Given the description of an element on the screen output the (x, y) to click on. 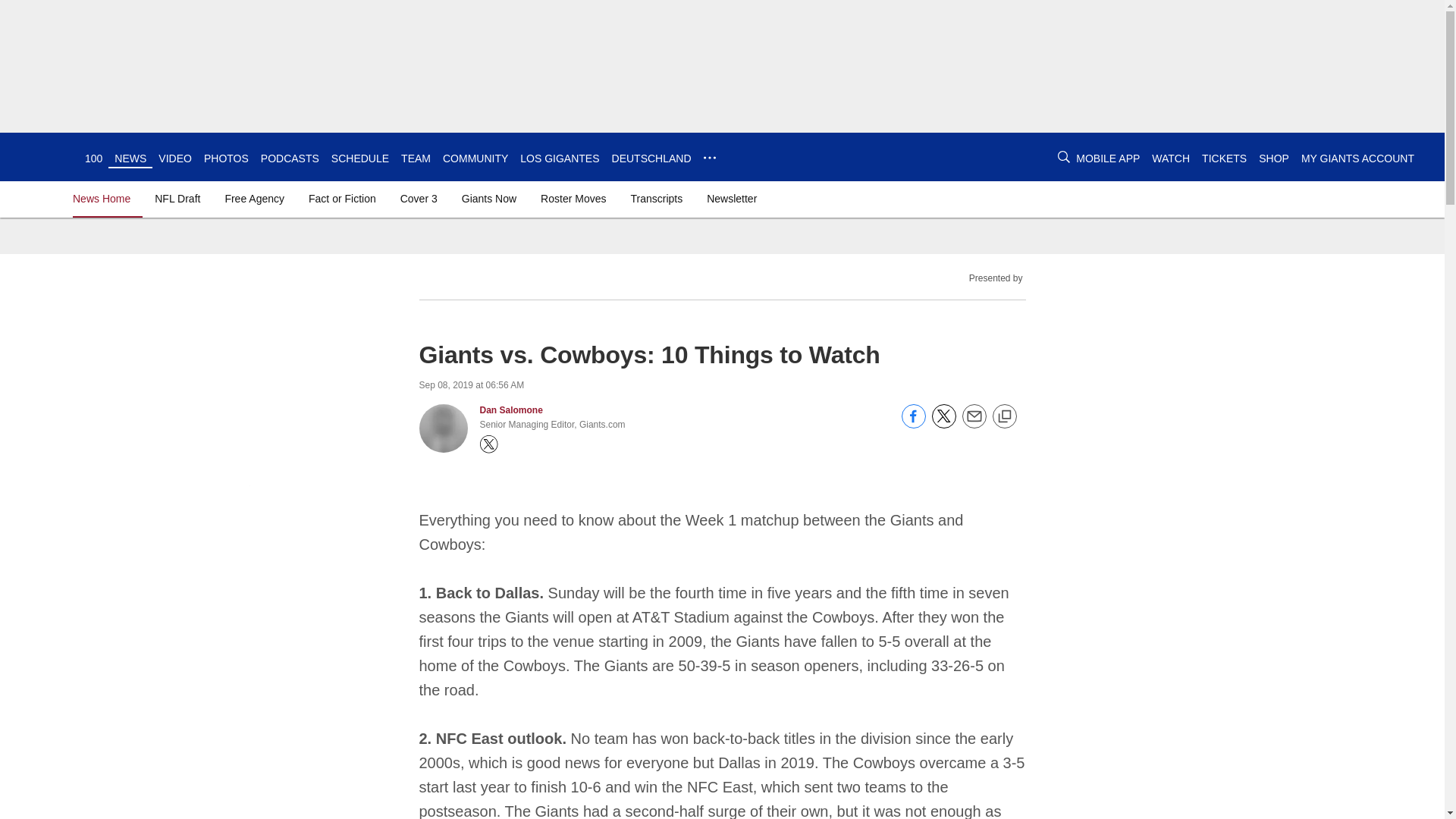
TICKETS (1224, 158)
PHOTOS (225, 158)
Fact or Fiction (341, 198)
NFL Draft (177, 198)
LOS GIGANTES (558, 158)
WATCH (1170, 158)
TEAM (415, 158)
PODCASTS (289, 158)
News Home (104, 198)
SCHEDULE (359, 158)
SHOP (1273, 158)
100 (92, 158)
COMMUNITY (475, 158)
Link to club's homepage (42, 156)
MY GIANTS ACCOUNT (1357, 158)
